Given the description of an element on the screen output the (x, y) to click on. 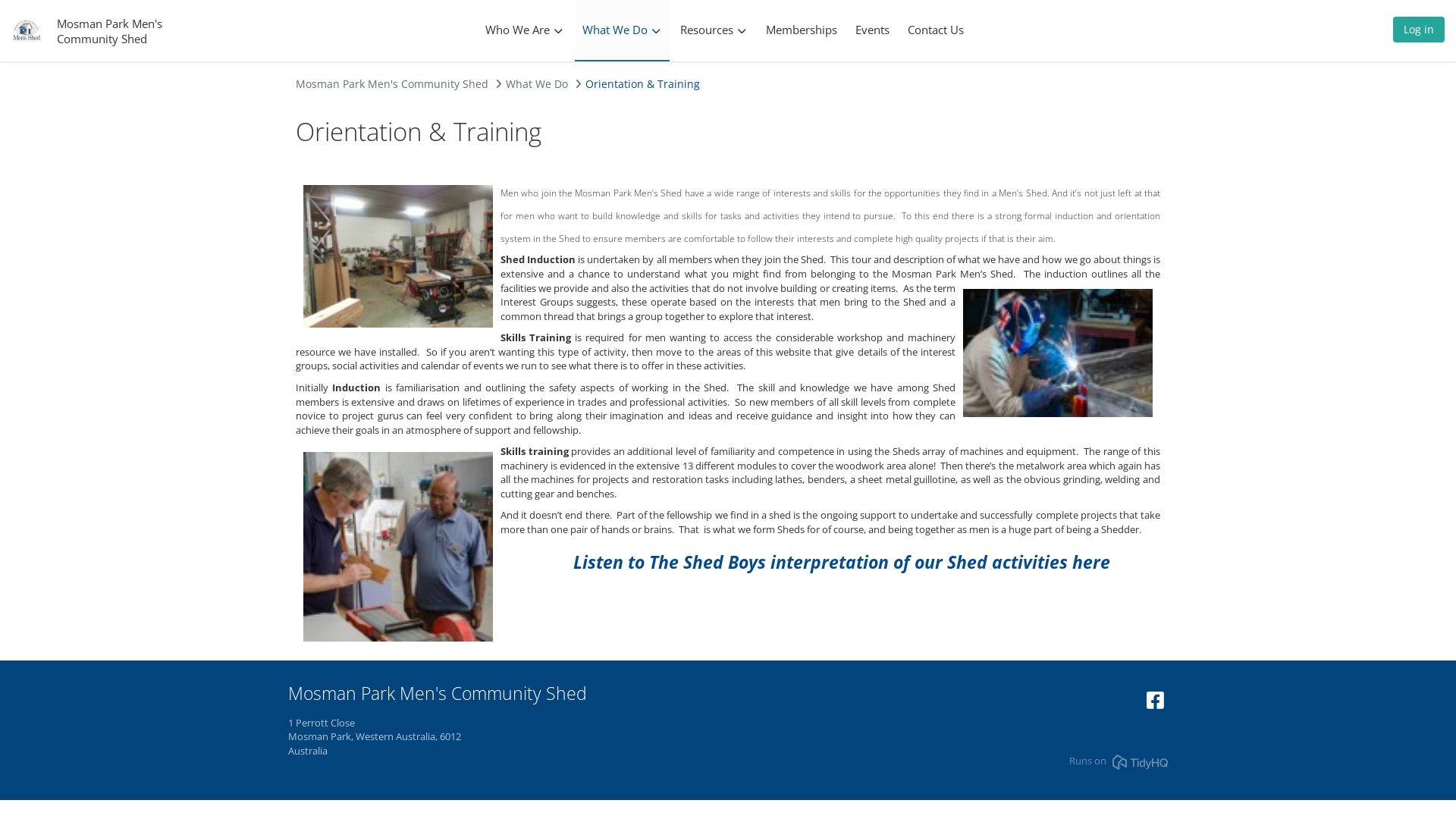
Log in Element type: text (1418, 32)
Resources Element type: text (712, 29)
What We Do Element type: text (621, 30)
Who We Are Element type: text (524, 29)
Contact Us Element type: text (934, 29)
Orientation & Training Element type: text (642, 83)
Events Element type: text (872, 29)
Mosman Park Men's Community Shed Element type: text (109, 30)
MosmanParkCommunityMensShed Element type: hover (1155, 703)
Memberships Element type: text (801, 29)
Mosman Park Men's Community Shed Element type: text (391, 83)
